Given the description of an element on the screen output the (x, y) to click on. 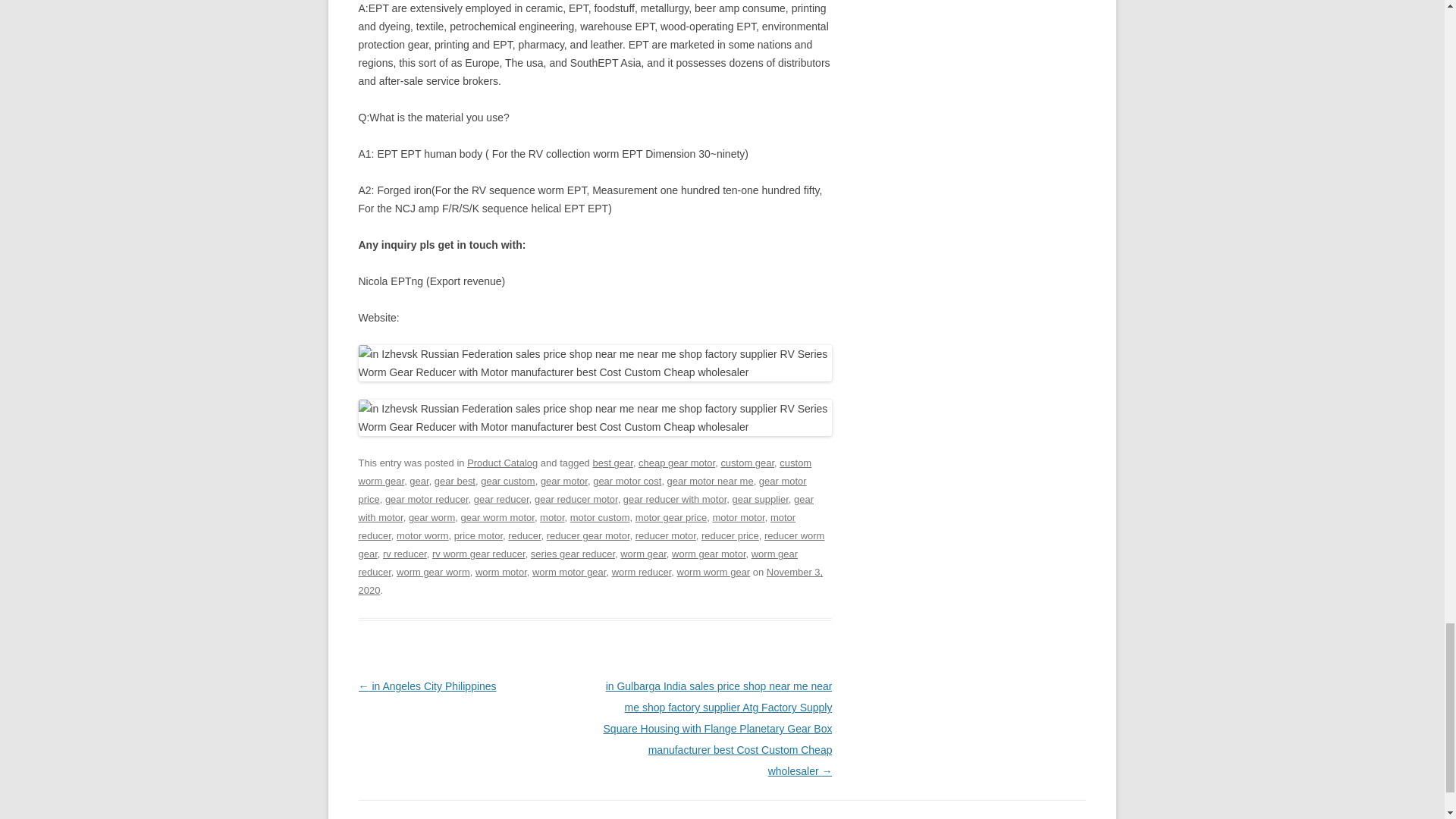
gear motor near me (710, 480)
gear (418, 480)
motor worm (422, 535)
gear motor reducer (426, 499)
motor reducer (576, 526)
custom gear (747, 462)
motor custom (600, 517)
motor (552, 517)
gear supplier (759, 499)
gear motor (564, 480)
motor gear price (670, 517)
gear reducer motor (575, 499)
reducer motor (664, 535)
Product Catalog (502, 462)
